Given the description of an element on the screen output the (x, y) to click on. 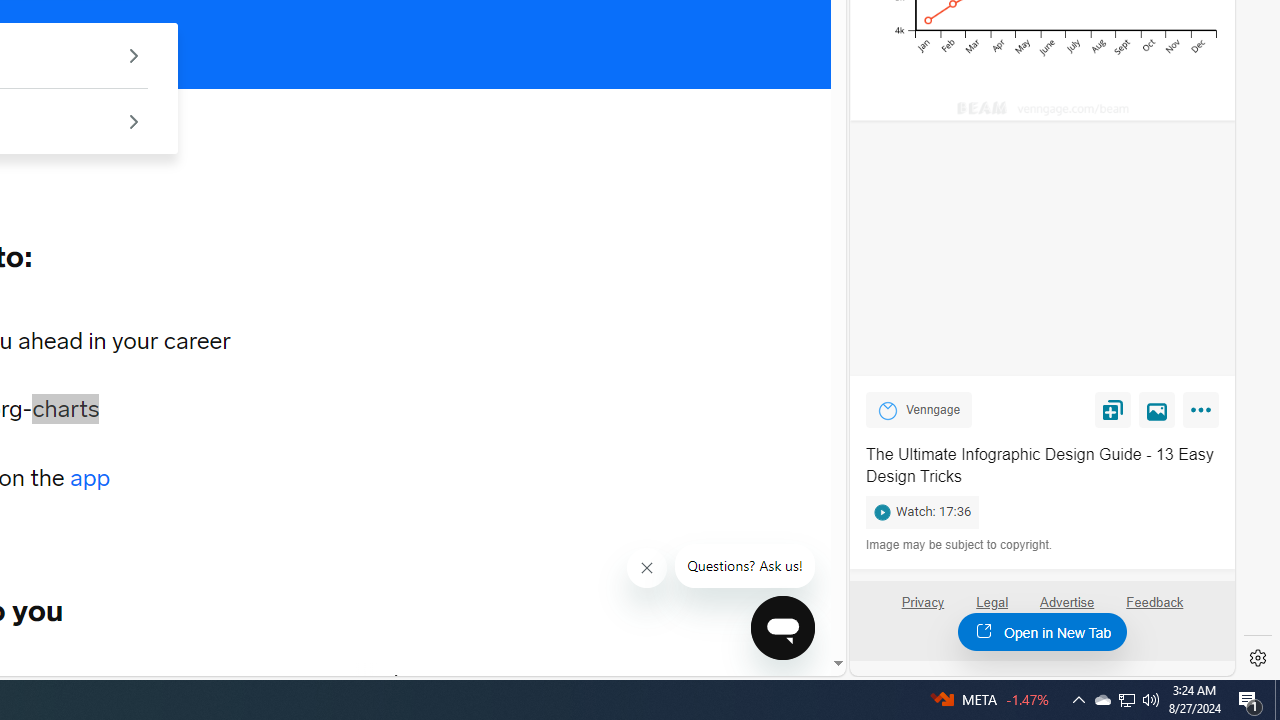
Venngage Venngage (919, 409)
See group offers (133, 120)
Questions? Ask us! (745, 566)
View image (1157, 409)
Venngage (888, 410)
Watch: 17:36 (1042, 508)
Close message from company (647, 567)
Open in New Tab (1042, 631)
Image may be subject to copyright. (959, 545)
